Given the description of an element on the screen output the (x, y) to click on. 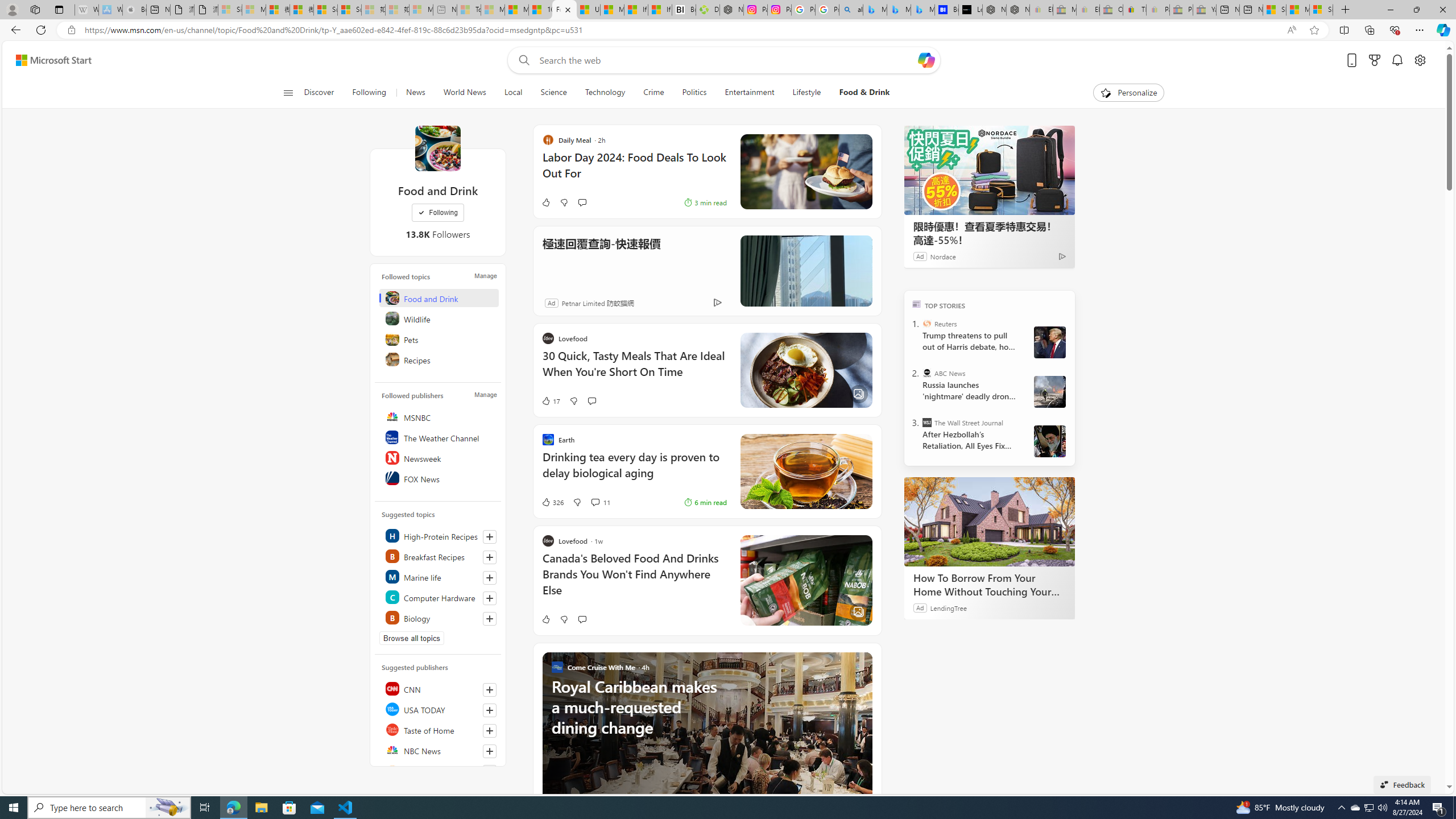
LendingTree (948, 607)
Wikipedia - Sleeping (86, 9)
Politics (694, 92)
Reuters (927, 323)
Crime (653, 92)
Burger with Mmerican flag pick on top (805, 171)
alabama high school quarterback dies - Search (850, 9)
Newsweek (439, 457)
